Given the description of an element on the screen output the (x, y) to click on. 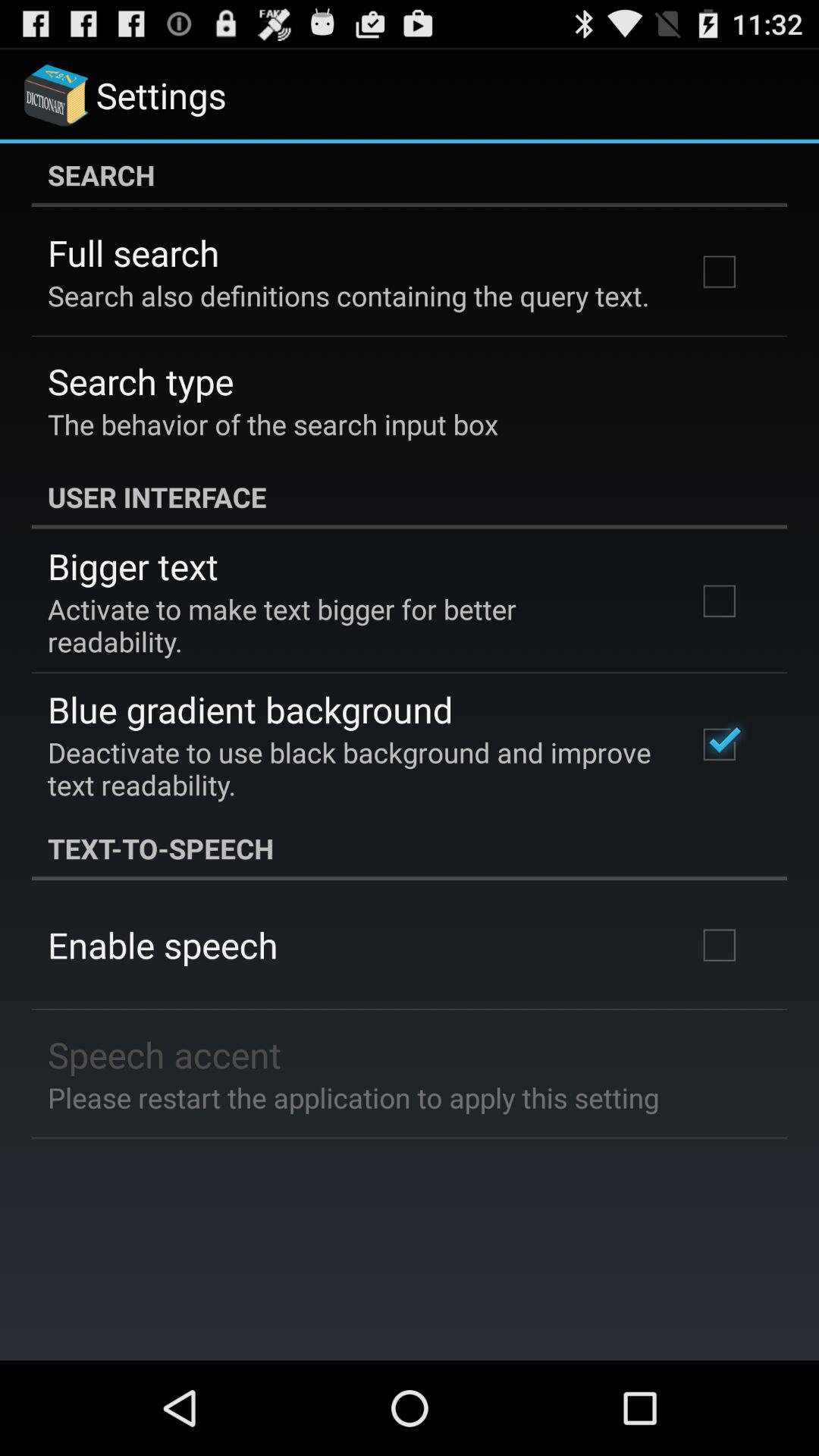
flip to the search also definitions icon (348, 295)
